Given the description of an element on the screen output the (x, y) to click on. 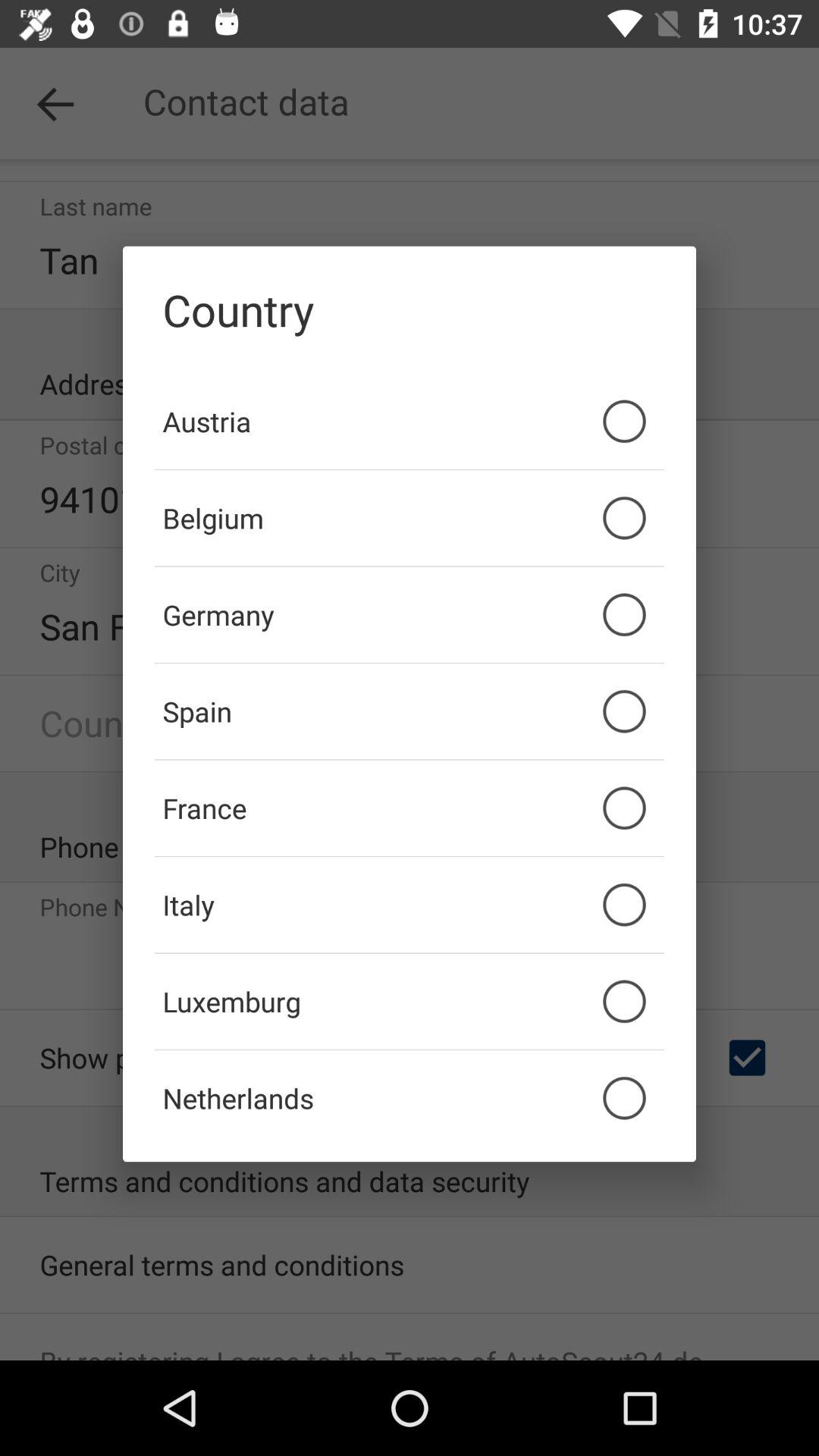
scroll to the france icon (409, 807)
